Given the description of an element on the screen output the (x, y) to click on. 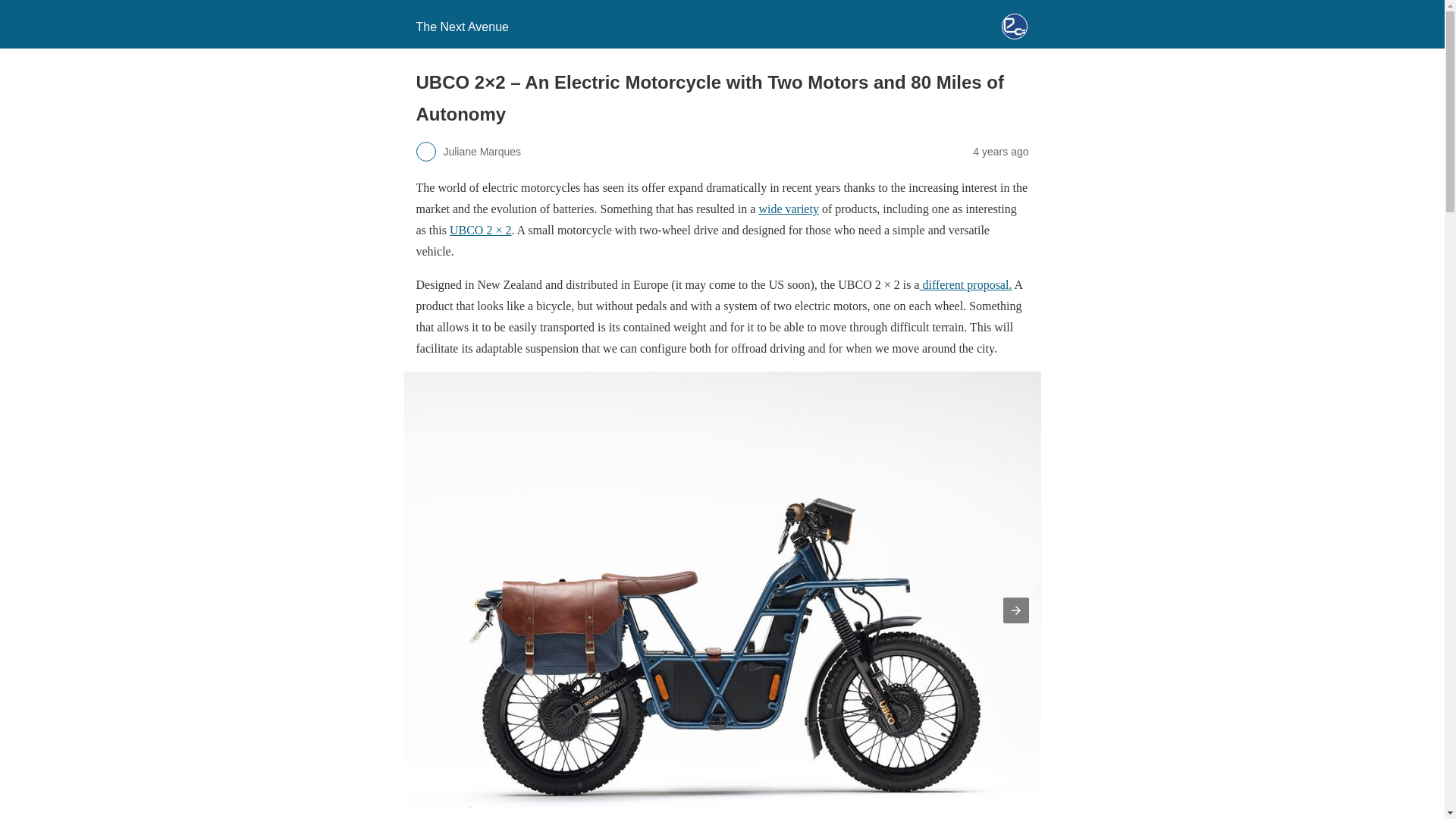
different proposal. (965, 284)
wide variety (788, 208)
The Next Avenue (461, 26)
